Given the description of an element on the screen output the (x, y) to click on. 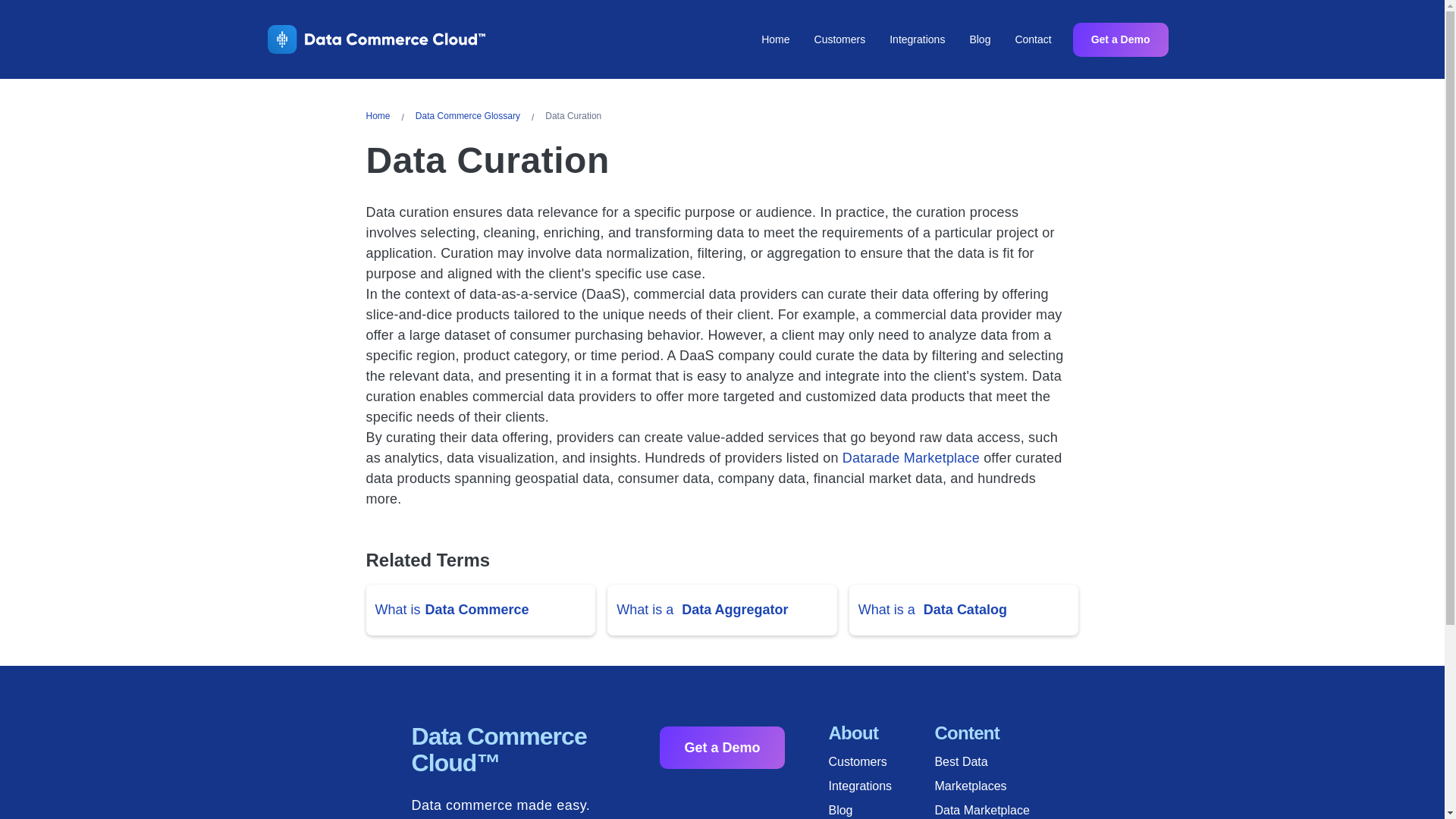
Data Commerce (477, 609)
Data Catalog (965, 609)
Customers (881, 761)
Get a Demo (721, 747)
Get a Demo (1121, 39)
Customers (839, 39)
Home (381, 117)
Datarade Marketplace (911, 458)
Data Commerce Glossary (470, 117)
Data Aggregator (734, 609)
Contact (1032, 39)
Data Marketplace Types (987, 808)
Best Data Marketplaces (987, 774)
Data Curation (576, 117)
Integrations (916, 39)
